Given the description of an element on the screen output the (x, y) to click on. 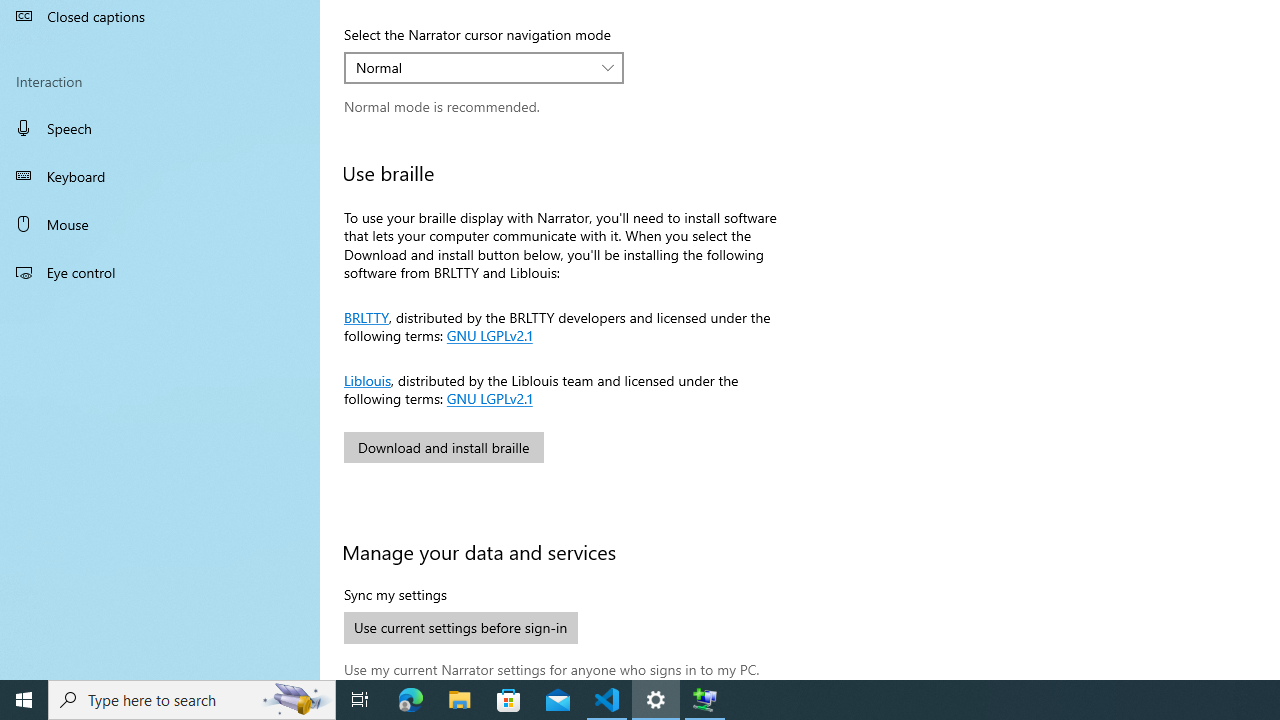
Mouse (160, 223)
Type here to search (191, 699)
Select the Narrator cursor navigation mode (484, 67)
Liblouis (367, 379)
Microsoft Store (509, 699)
GNU LGPLv2.1 (488, 397)
Speech (160, 127)
Eye control (160, 271)
Settings - 1 running window (656, 699)
Start (24, 699)
File Explorer (460, 699)
Microsoft Edge (411, 699)
Visual Studio Code - 1 running window (607, 699)
Task View (359, 699)
